Given the description of an element on the screen output the (x, y) to click on. 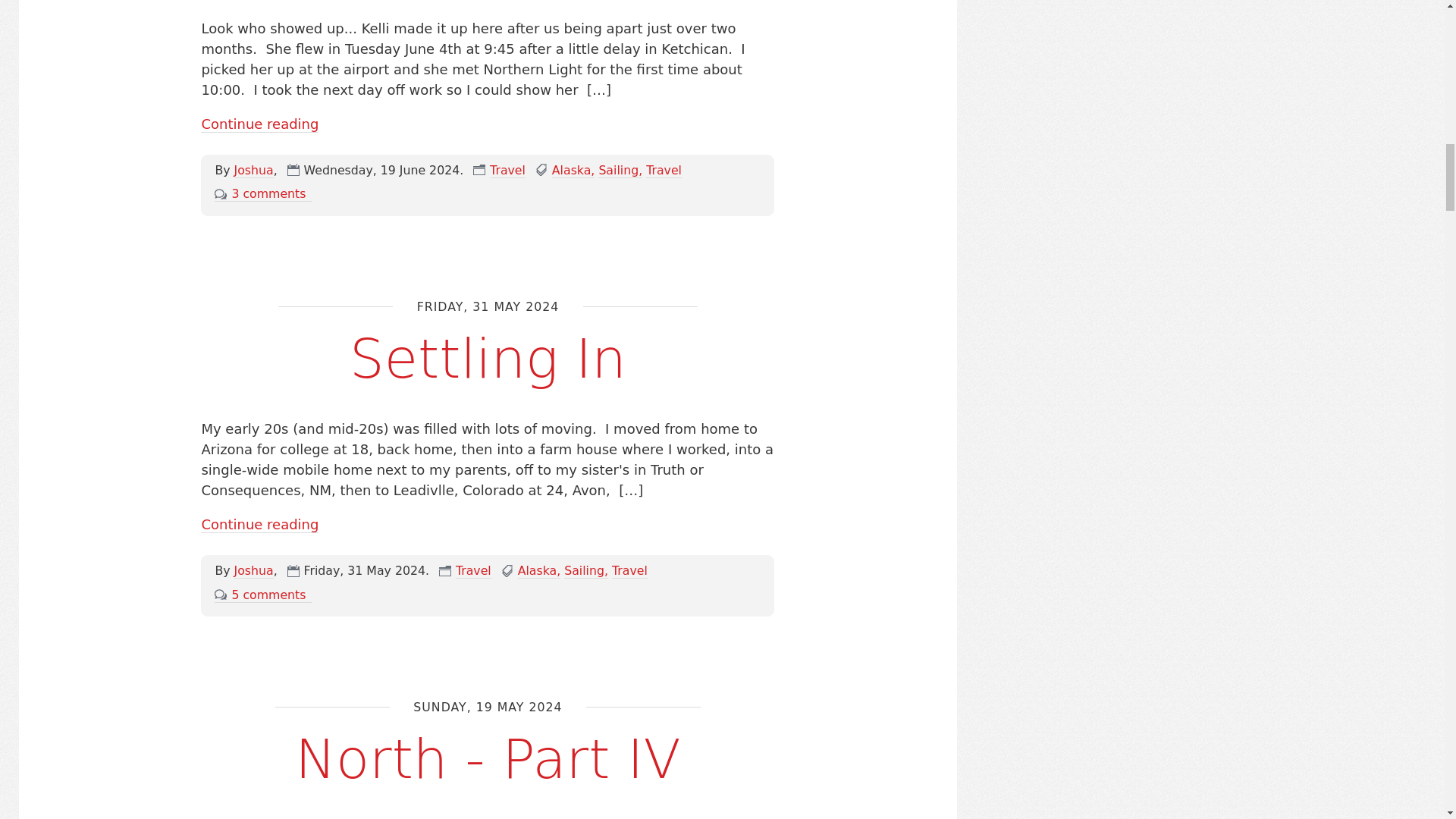
3 comments (262, 193)
Travel (473, 570)
Settling In (487, 358)
Joshua (253, 170)
Alaska (573, 170)
Travel (629, 570)
Sailing (586, 570)
Joshua (253, 570)
Sailing (620, 170)
North - Part IV (488, 759)
